Given the description of an element on the screen output the (x, y) to click on. 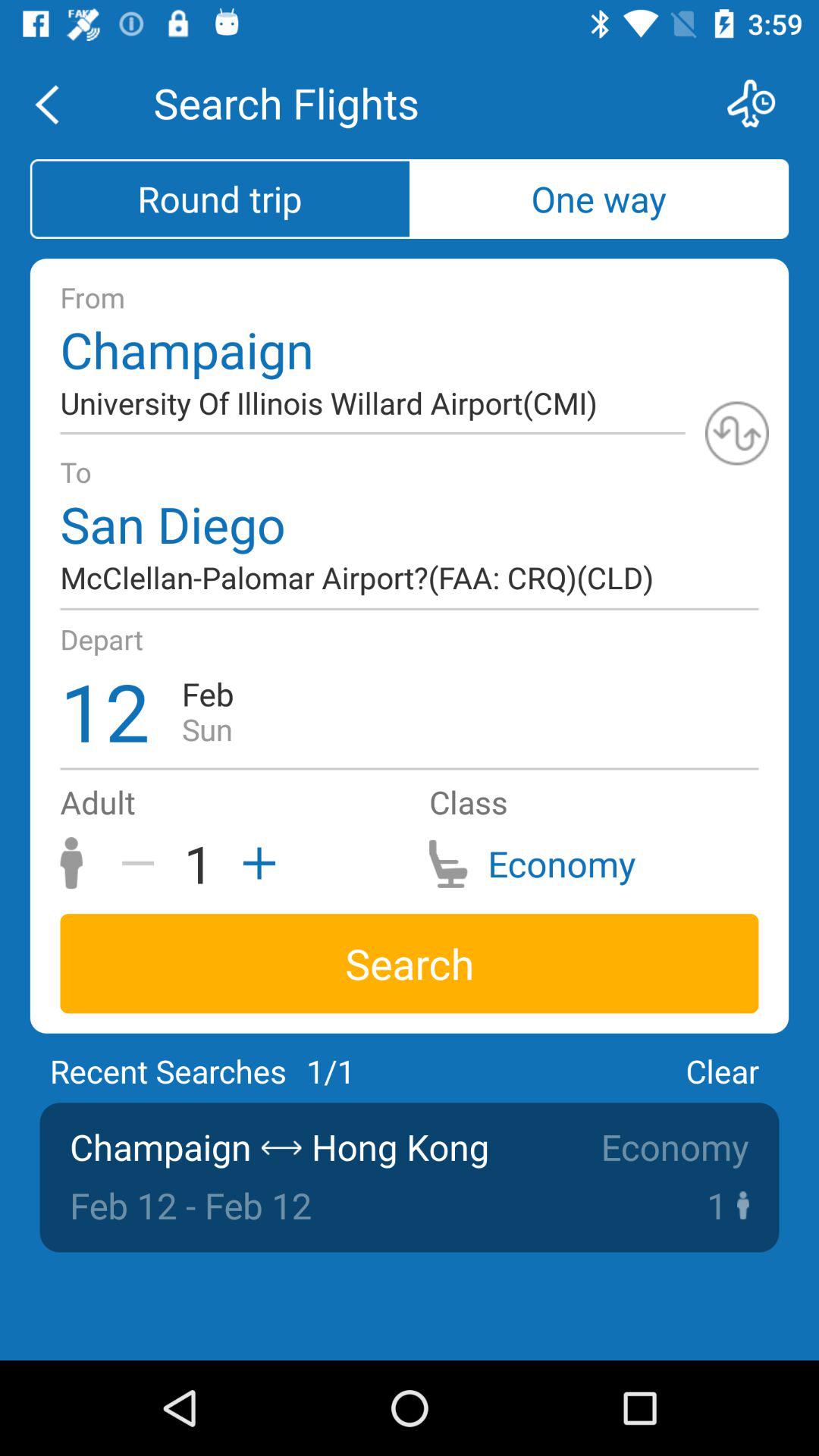
swipe until round trip item (219, 198)
